Given the description of an element on the screen output the (x, y) to click on. 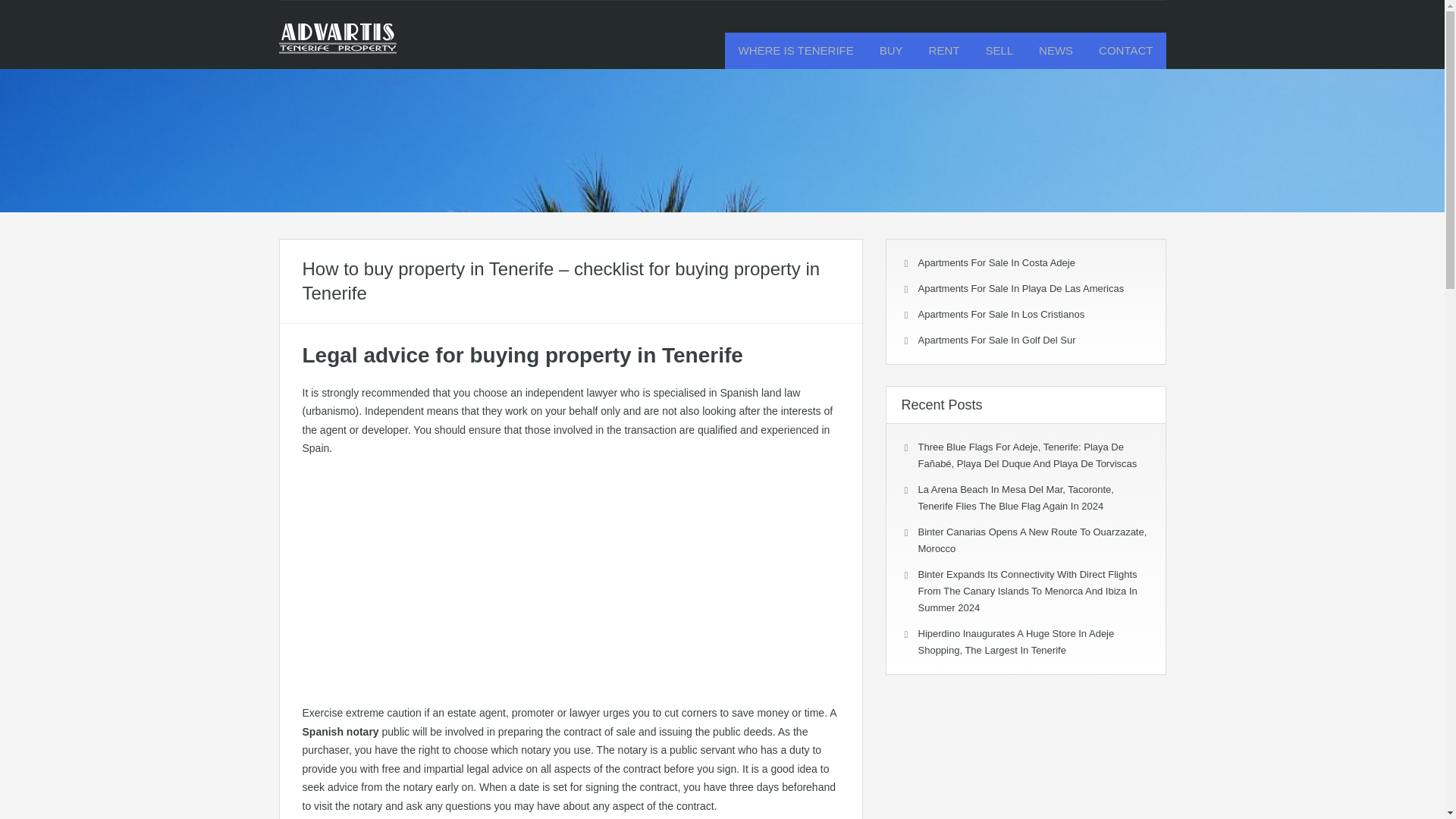
Apartments For Sale In Costa Adeje (995, 262)
Binter Canarias Opens A New Route To Ouarzazate, Morocco (1032, 540)
Apartments For Sale In Los Cristianos (1000, 314)
Advartis Tenerife Property (337, 45)
NEWS (1056, 50)
WHERE IS TENERIFE (795, 50)
BUY (890, 50)
SELL (999, 50)
Apartments For Sale In Playa De Las Americas (1020, 288)
RENT (943, 50)
Advertisement (569, 579)
Apartments For Sale In Golf Del Sur (996, 339)
